Given the description of an element on the screen output the (x, y) to click on. 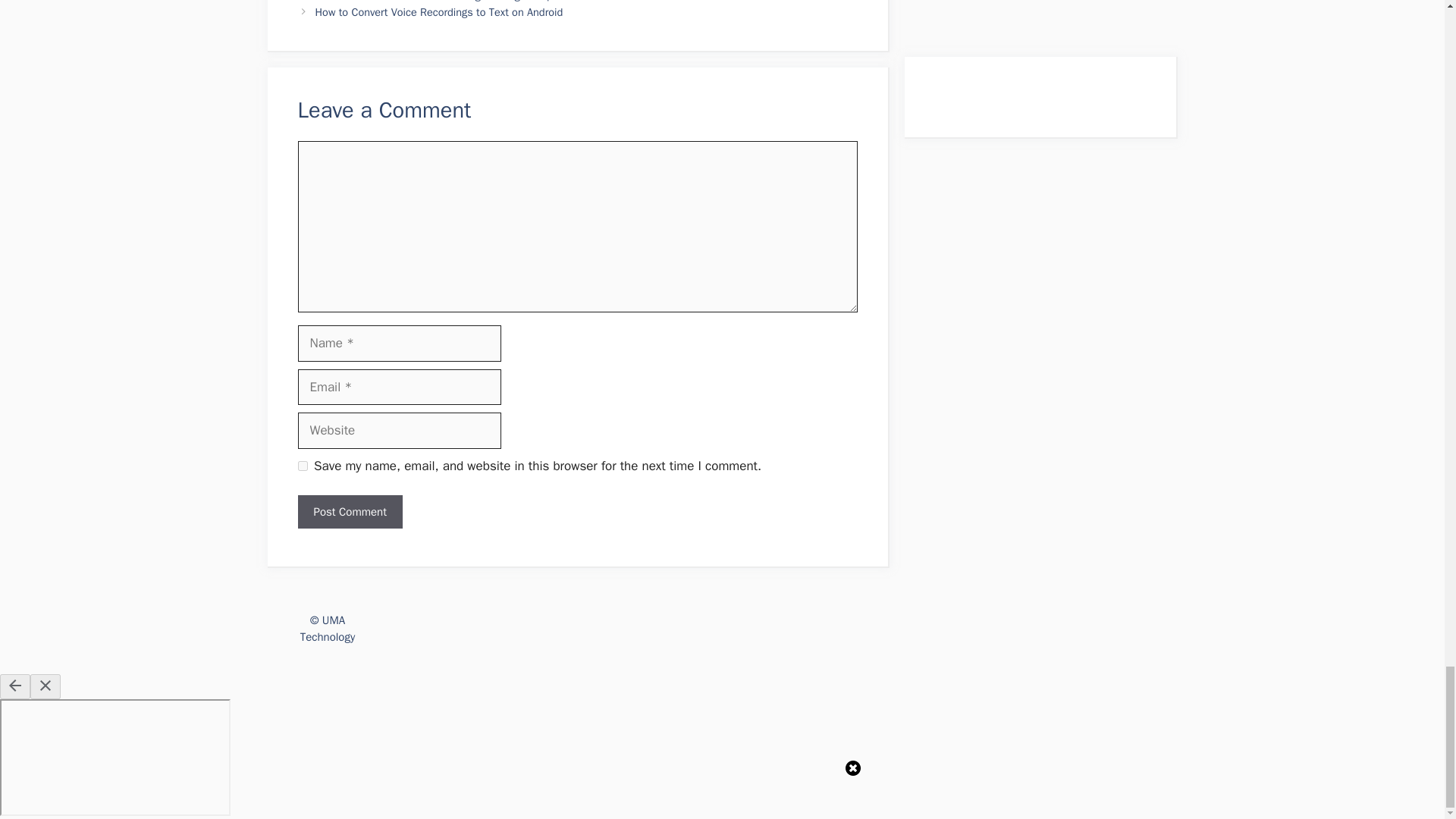
How to Convert Voice Recordings to Text on Android (439, 11)
Post Comment (349, 512)
yes (302, 465)
Post Comment (349, 512)
